Given the description of an element on the screen output the (x, y) to click on. 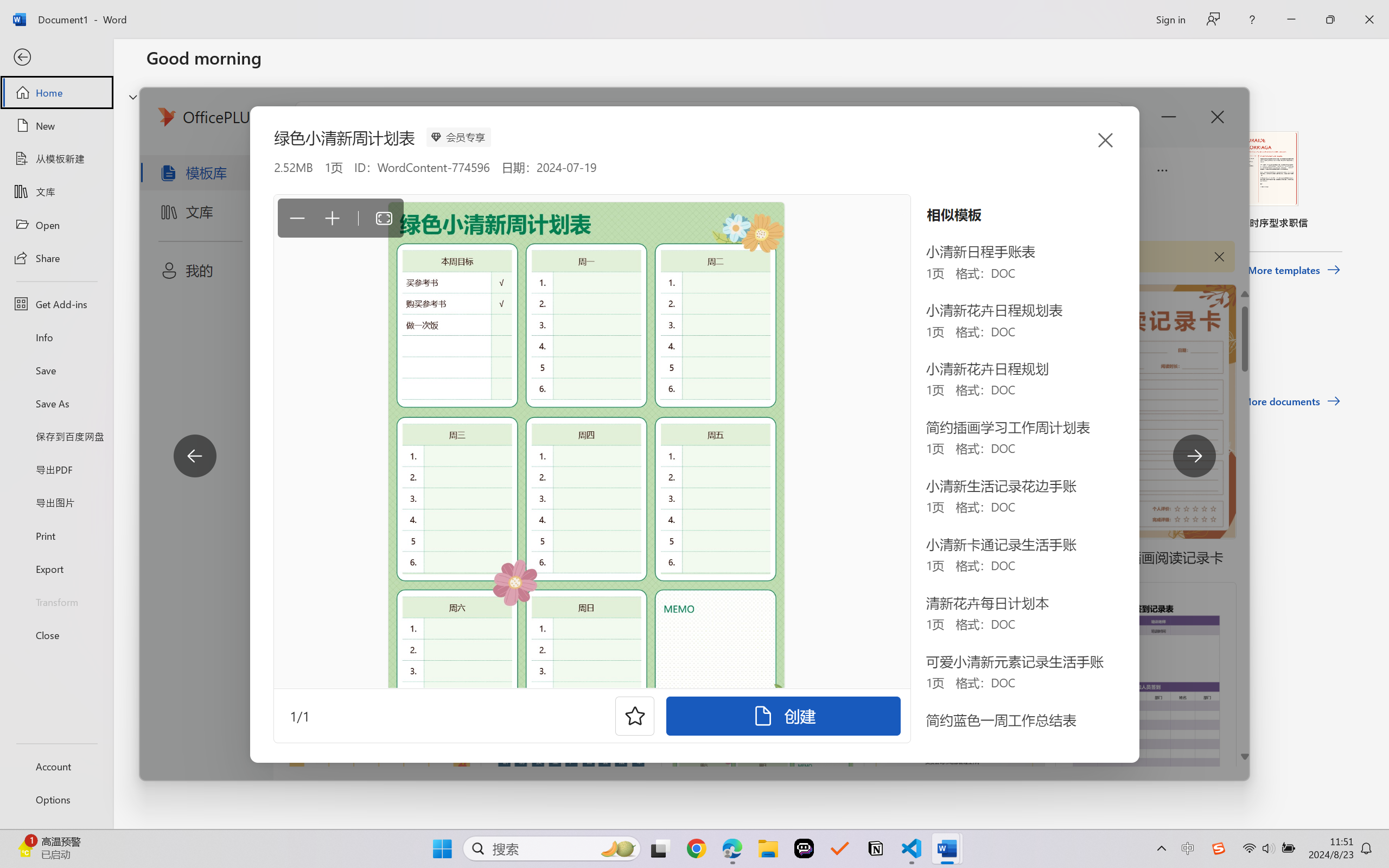
Blank document (219, 180)
Print (56, 535)
